Given the description of an element on the screen output the (x, y) to click on. 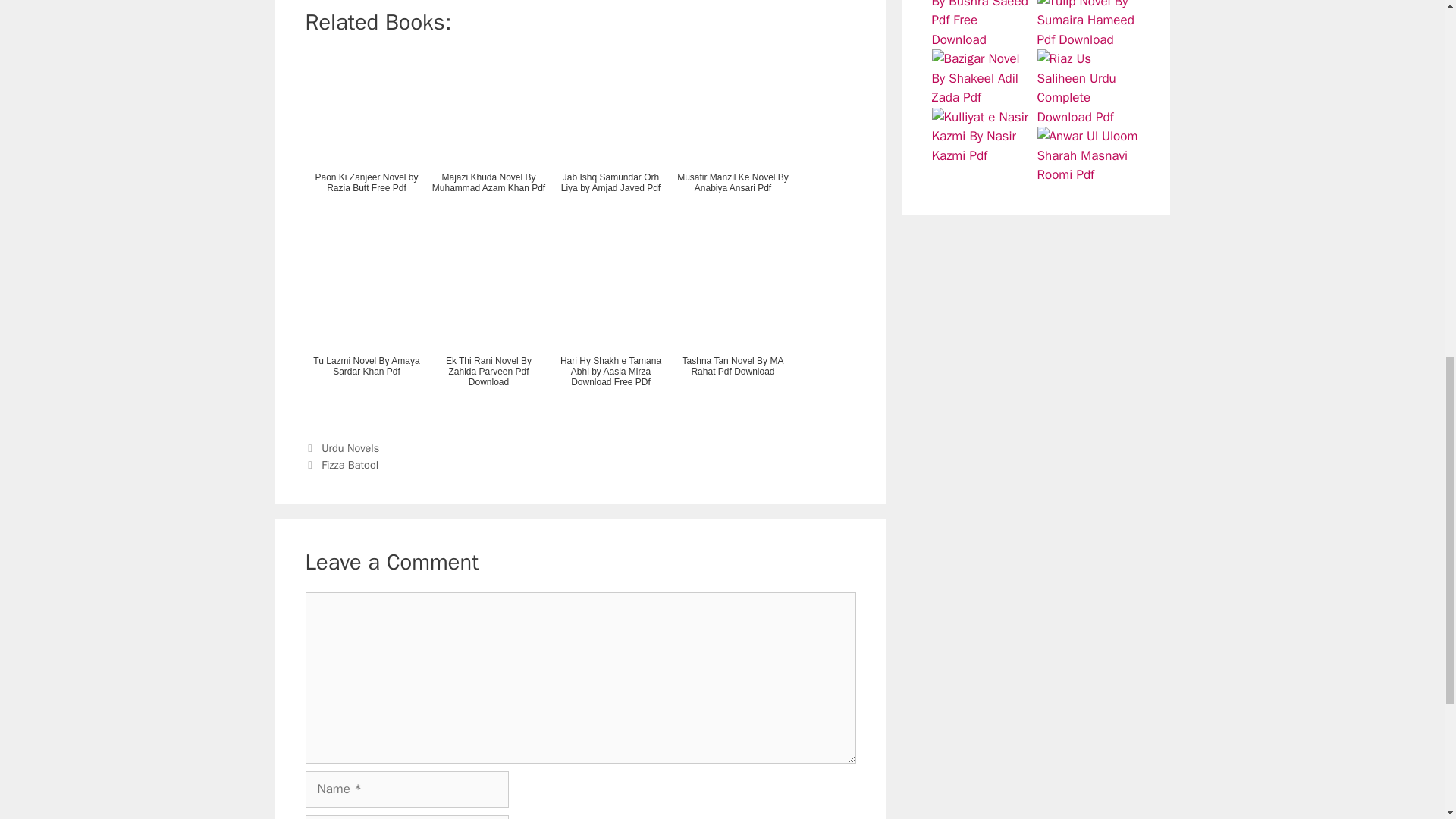
Urdu Novels (349, 448)
Riaz Us Saliheen Urdu Complete Download Pdf (1088, 87)
Kulliyat e Nasir Kazmi By Nasir Kazmi Pdf (982, 136)
Safal Gar Novel By Bushra Saeed Pdf Free Download (982, 24)
Fizza Batool (349, 464)
Bazigar Novel By Shakeel Adil Zada Pdf (982, 78)
Anwar Ul Uloom Sharah Masnavi Roomi Pdf (1088, 155)
Tulip Novel By Sumaira Hameed Pdf Download (1088, 24)
